Given the description of an element on the screen output the (x, y) to click on. 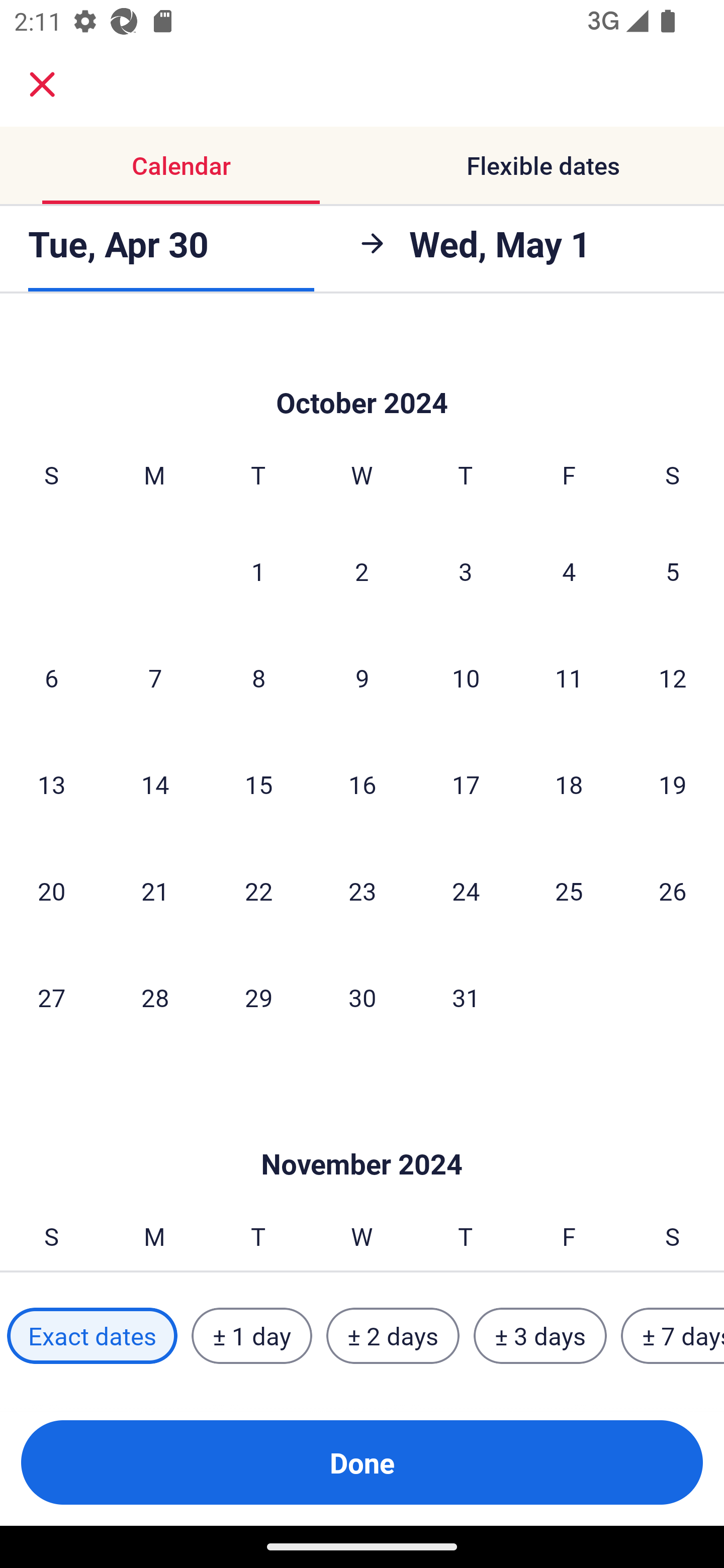
close. (42, 84)
Flexible dates (542, 164)
Skip to Done (362, 372)
1 Tuesday, October 1, 2024 (257, 570)
2 Wednesday, October 2, 2024 (361, 570)
3 Thursday, October 3, 2024 (465, 570)
4 Friday, October 4, 2024 (569, 570)
5 Saturday, October 5, 2024 (672, 570)
6 Sunday, October 6, 2024 (51, 677)
7 Monday, October 7, 2024 (155, 677)
8 Tuesday, October 8, 2024 (258, 677)
9 Wednesday, October 9, 2024 (362, 677)
10 Thursday, October 10, 2024 (465, 677)
11 Friday, October 11, 2024 (569, 677)
12 Saturday, October 12, 2024 (672, 677)
13 Sunday, October 13, 2024 (51, 783)
14 Monday, October 14, 2024 (155, 783)
15 Tuesday, October 15, 2024 (258, 783)
16 Wednesday, October 16, 2024 (362, 783)
17 Thursday, October 17, 2024 (465, 783)
18 Friday, October 18, 2024 (569, 783)
19 Saturday, October 19, 2024 (672, 783)
20 Sunday, October 20, 2024 (51, 890)
21 Monday, October 21, 2024 (155, 890)
22 Tuesday, October 22, 2024 (258, 890)
23 Wednesday, October 23, 2024 (362, 890)
24 Thursday, October 24, 2024 (465, 890)
25 Friday, October 25, 2024 (569, 890)
26 Saturday, October 26, 2024 (672, 890)
27 Sunday, October 27, 2024 (51, 996)
28 Monday, October 28, 2024 (155, 996)
29 Tuesday, October 29, 2024 (258, 996)
30 Wednesday, October 30, 2024 (362, 996)
31 Thursday, October 31, 2024 (465, 996)
Skip to Done (362, 1133)
Exact dates (92, 1335)
± 1 day (251, 1335)
± 2 days (392, 1335)
± 3 days (539, 1335)
± 7 days (672, 1335)
Done (361, 1462)
